Given the description of an element on the screen output the (x, y) to click on. 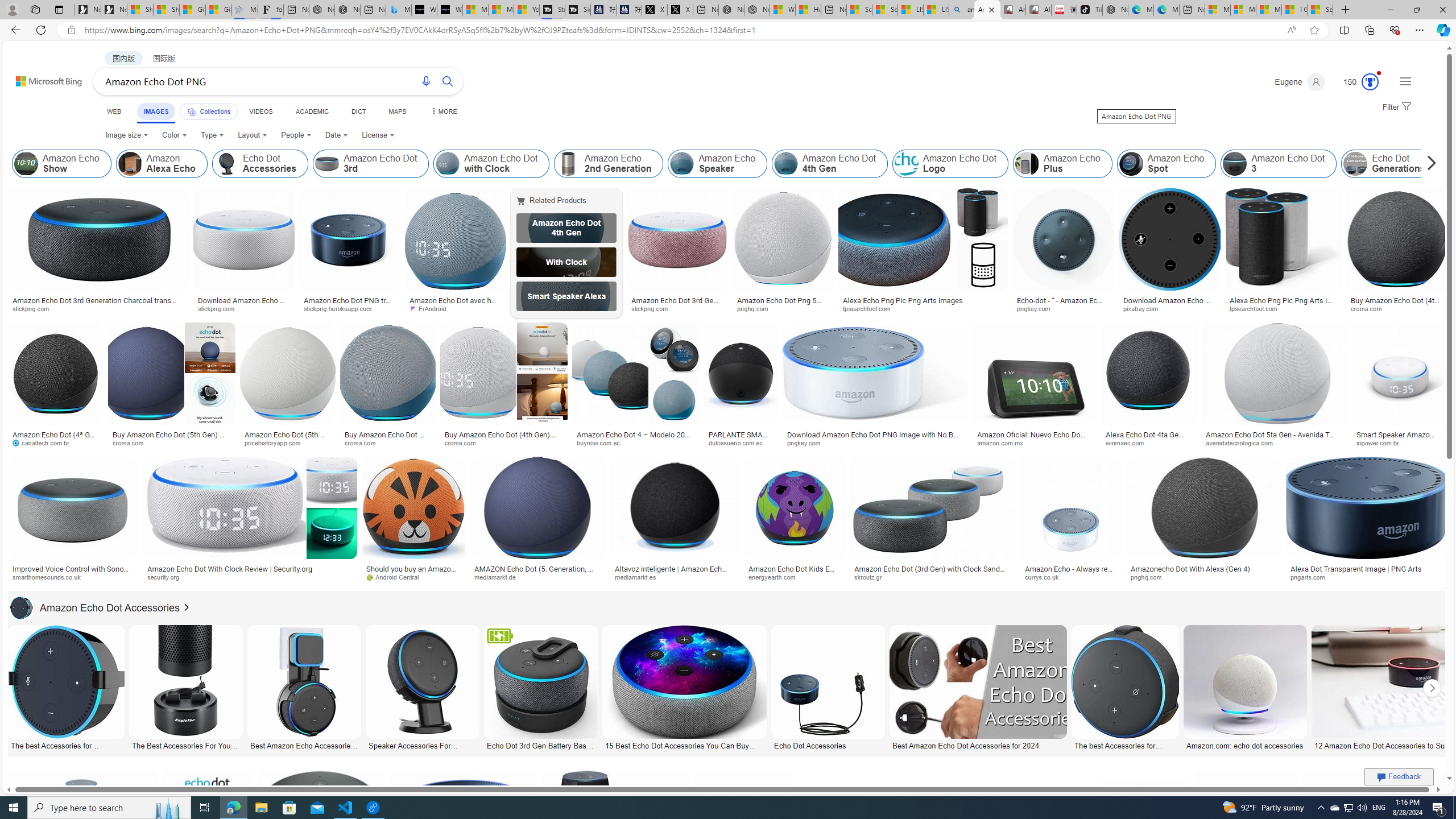
Back to Bing search (41, 78)
skroutz.gr (932, 576)
dulcesueno.com.ec (741, 442)
Echo Dot Accessories (828, 744)
security.org (167, 576)
smarthomesounds.co.uk (50, 576)
Amazon Echo Dot with Clock (447, 163)
Filter (1395, 107)
pnghq.com (1150, 576)
